Given the description of an element on the screen output the (x, y) to click on. 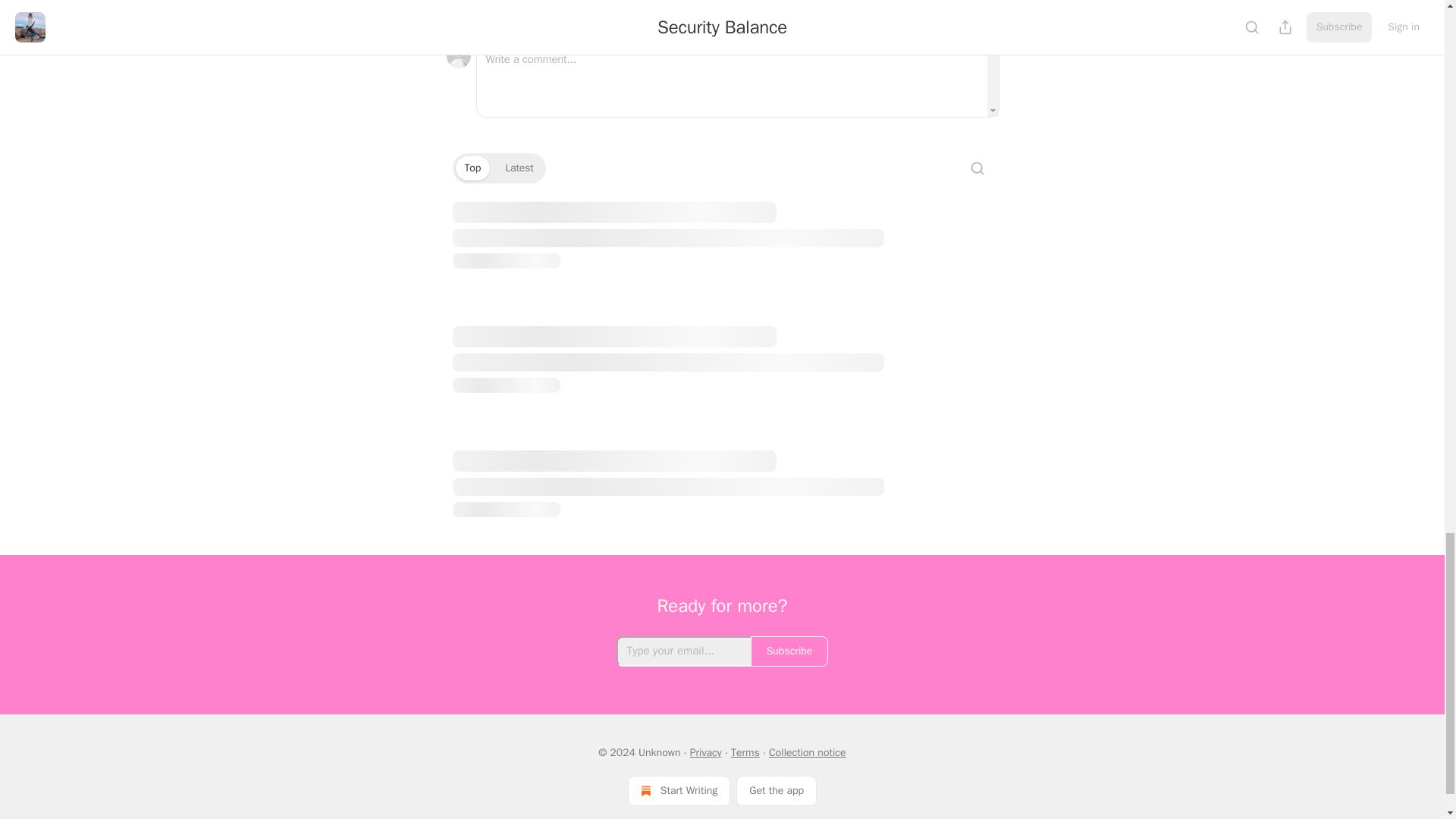
Privacy (706, 752)
Subscribe (789, 651)
Latest (518, 168)
Top (471, 168)
